Given the description of an element on the screen output the (x, y) to click on. 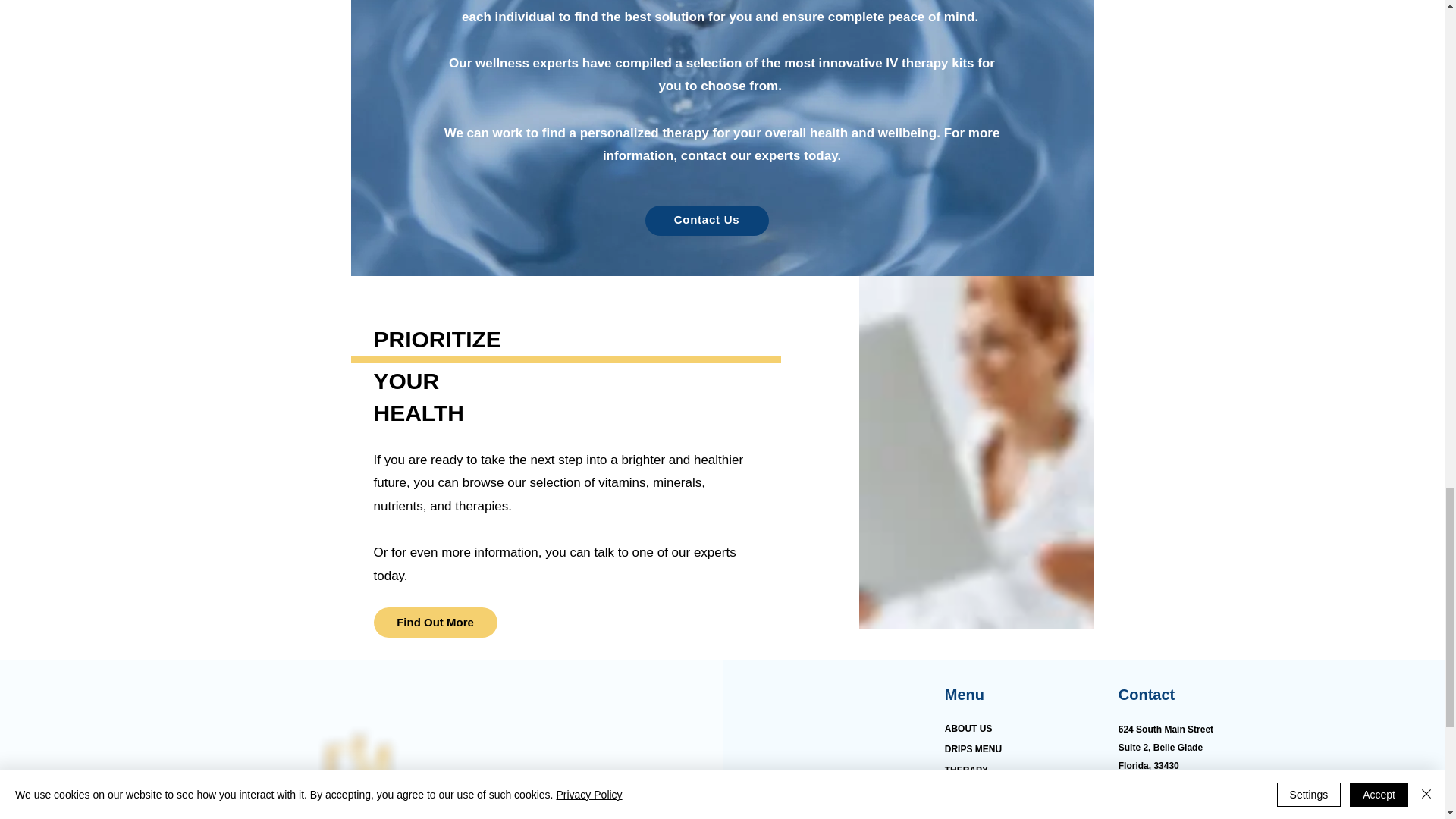
ABOUT US (968, 728)
Menu (964, 694)
DRIPS MENU (972, 748)
THERAPY BENEFITS (967, 778)
Find Out More (434, 622)
Footer-Logo-BlueandGold.png (359, 769)
Contact (1146, 694)
Contact Us (706, 220)
ladyRobeSipping-AboutUs-100.jpg (976, 452)
